Given the description of an element on the screen output the (x, y) to click on. 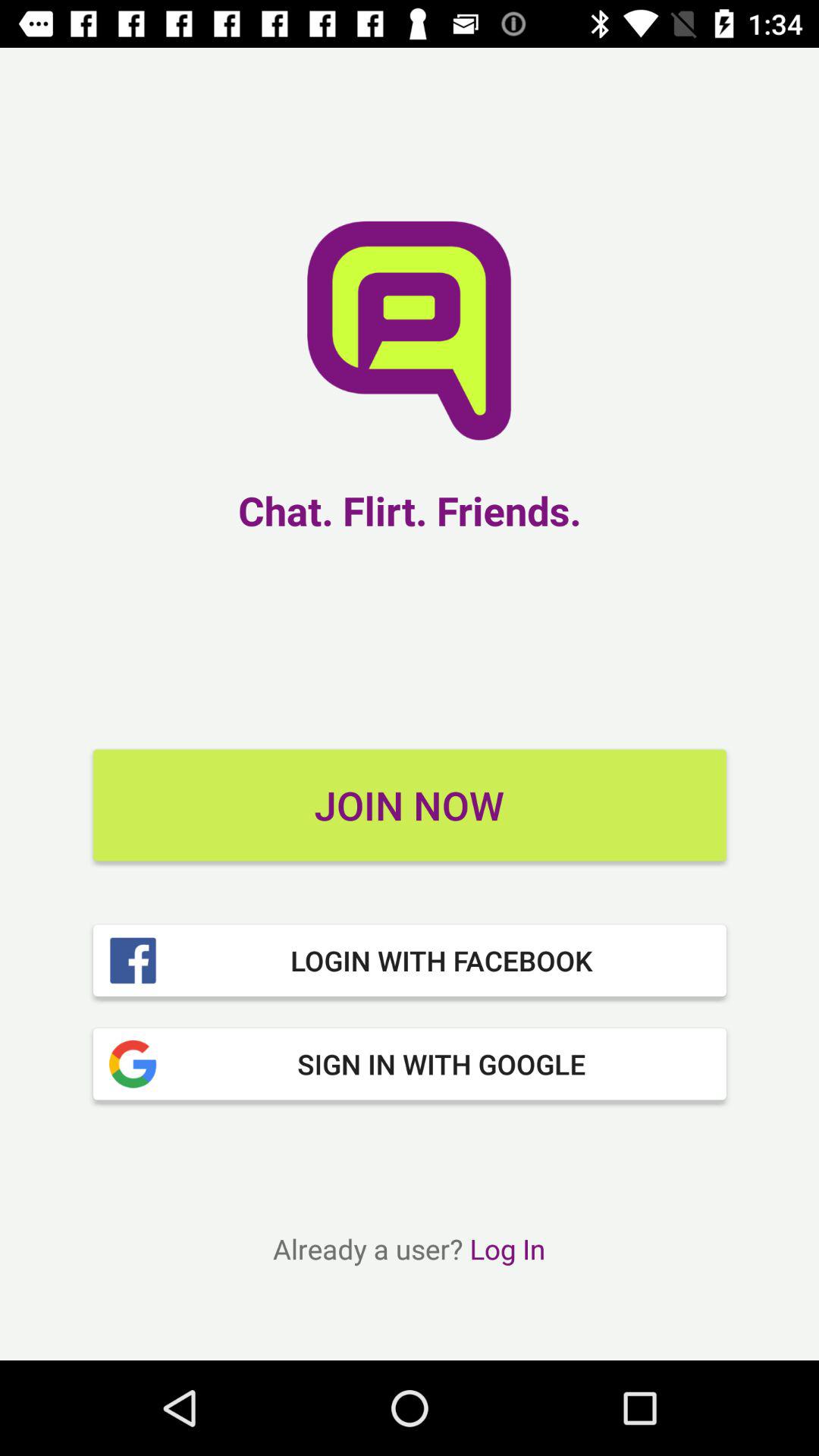
scroll to the sign in with (409, 1063)
